Given the description of an element on the screen output the (x, y) to click on. 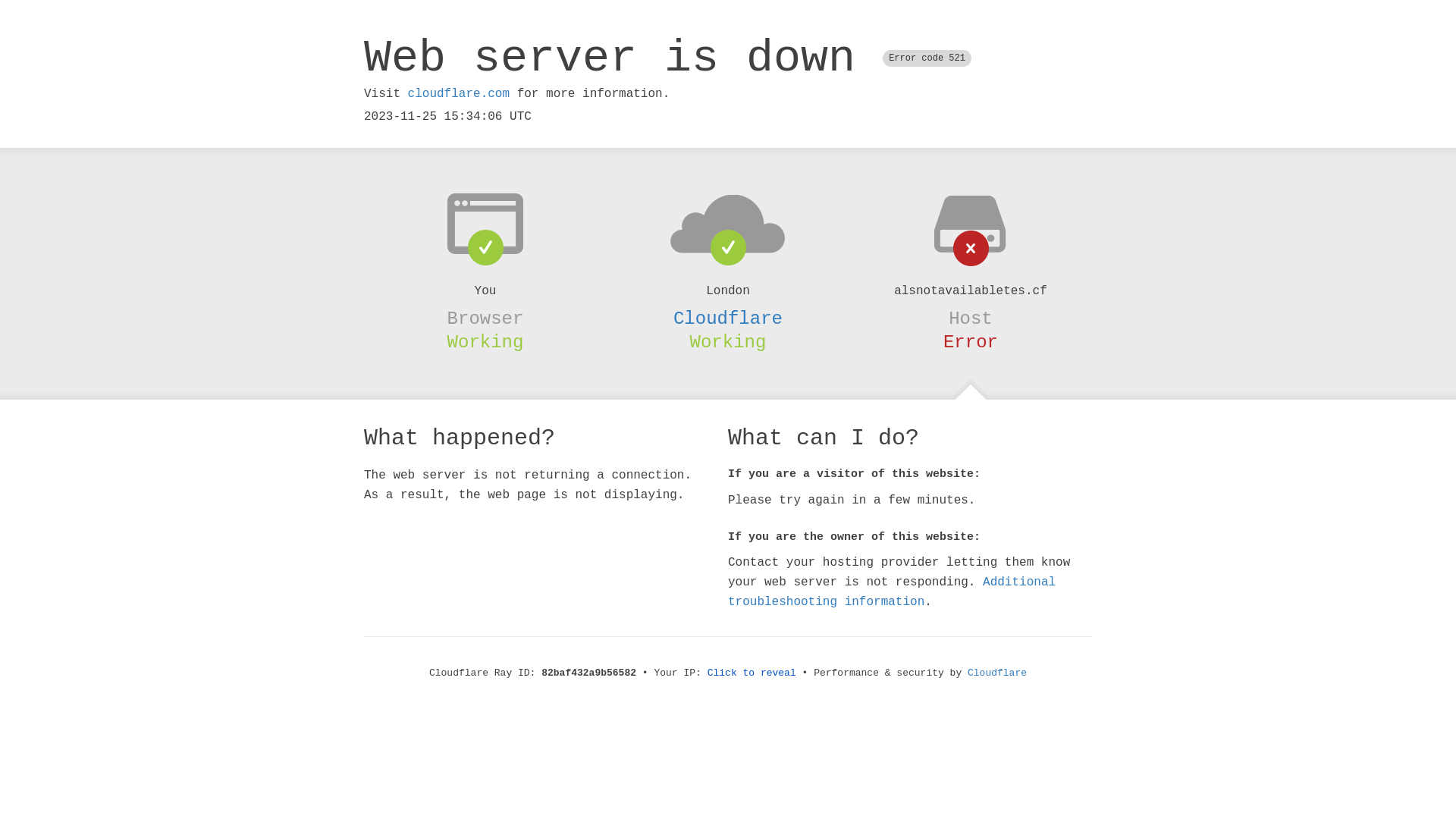
Additional troubleshooting information Element type: text (891, 591)
Click to reveal Element type: text (751, 672)
Cloudflare Element type: text (727, 318)
Cloudflare Element type: text (996, 672)
cloudflare.com Element type: text (458, 93)
